Given the description of an element on the screen output the (x, y) to click on. 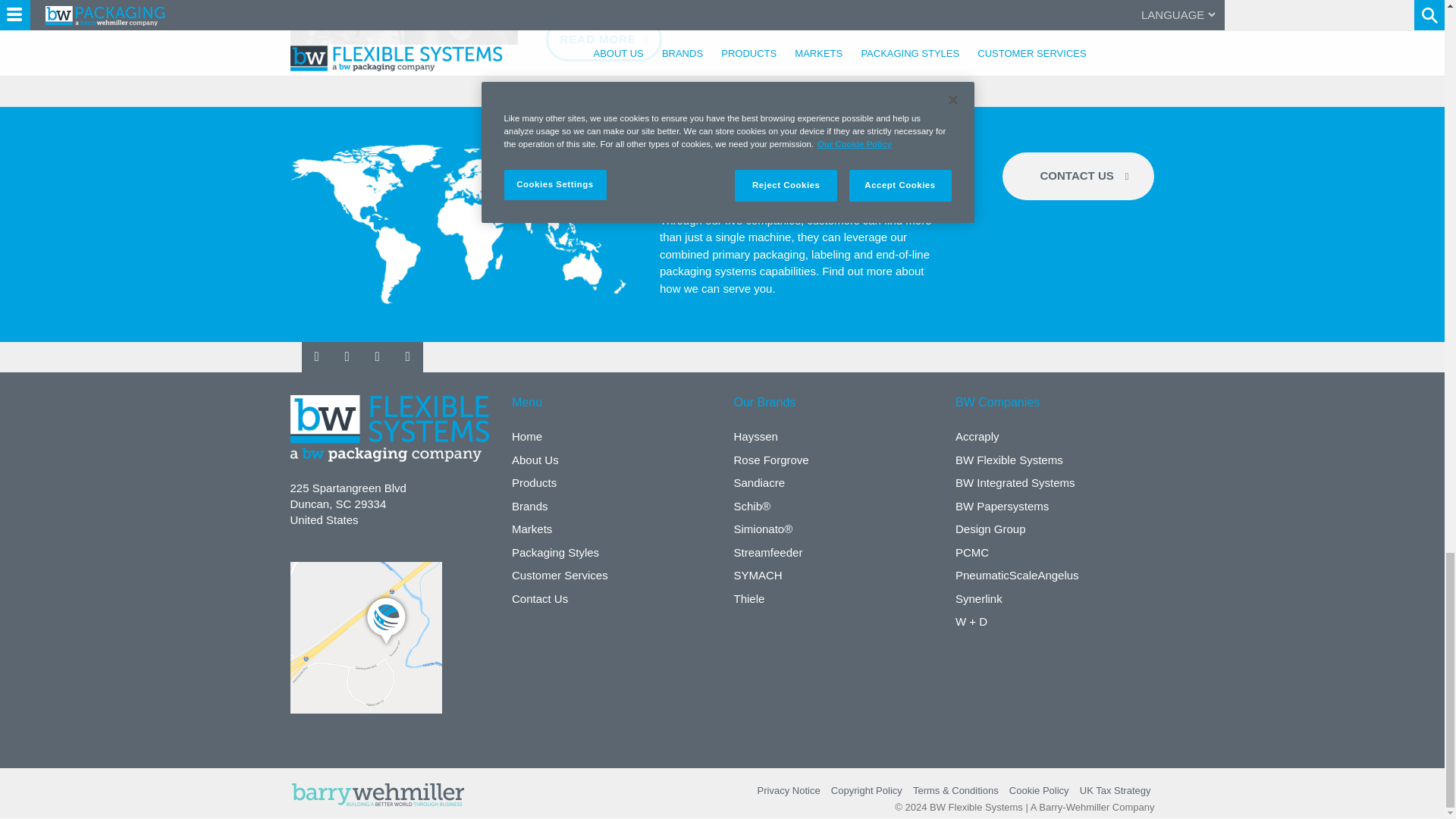
customer-service-helpdesk (463, 223)
Click for map (365, 637)
legal-footer-logo (376, 794)
barry-wehmiller-company (402, 22)
